Given the description of an element on the screen output the (x, y) to click on. 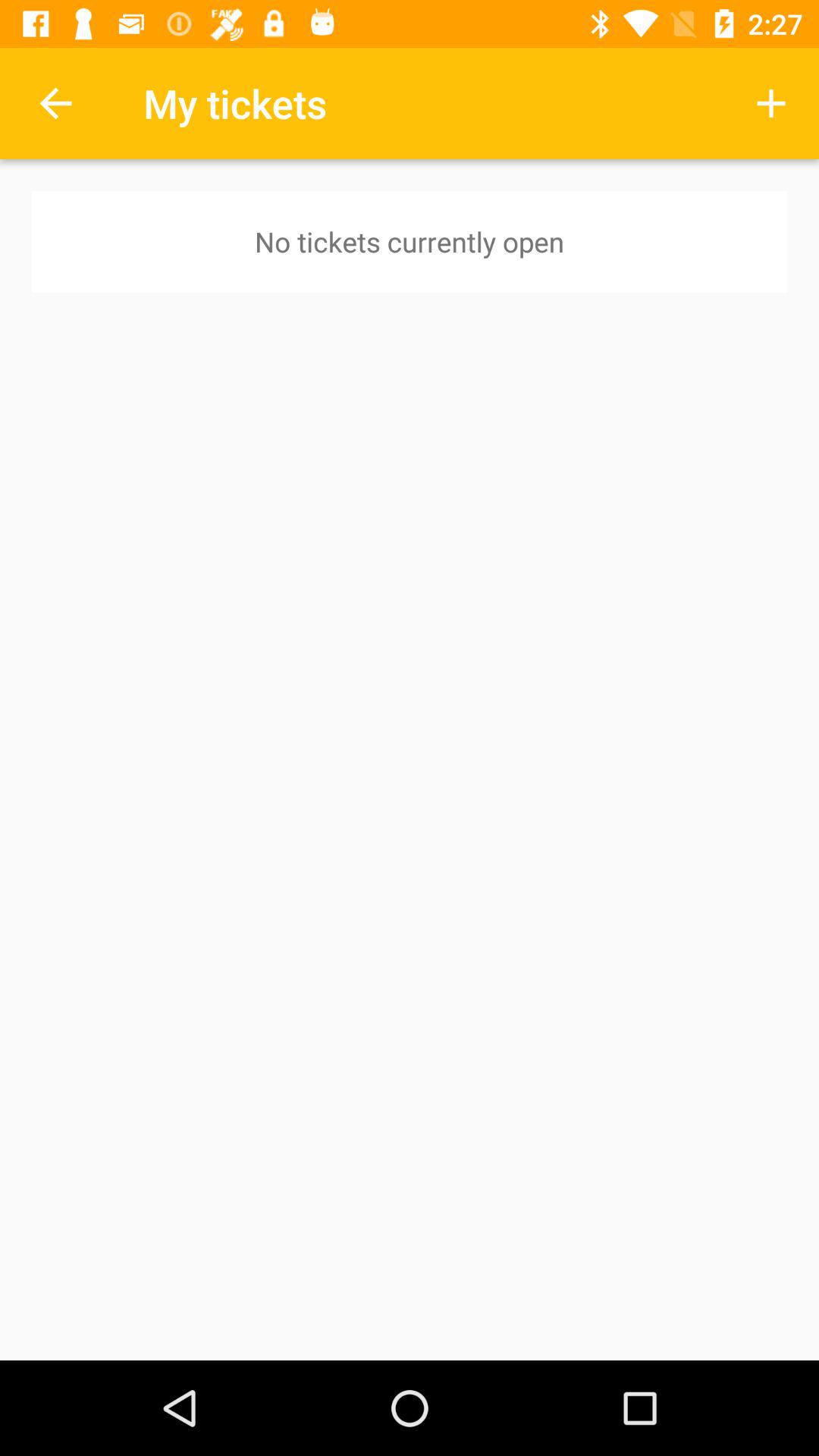
tap the item above no tickets currently (771, 103)
